Given the description of an element on the screen output the (x, y) to click on. 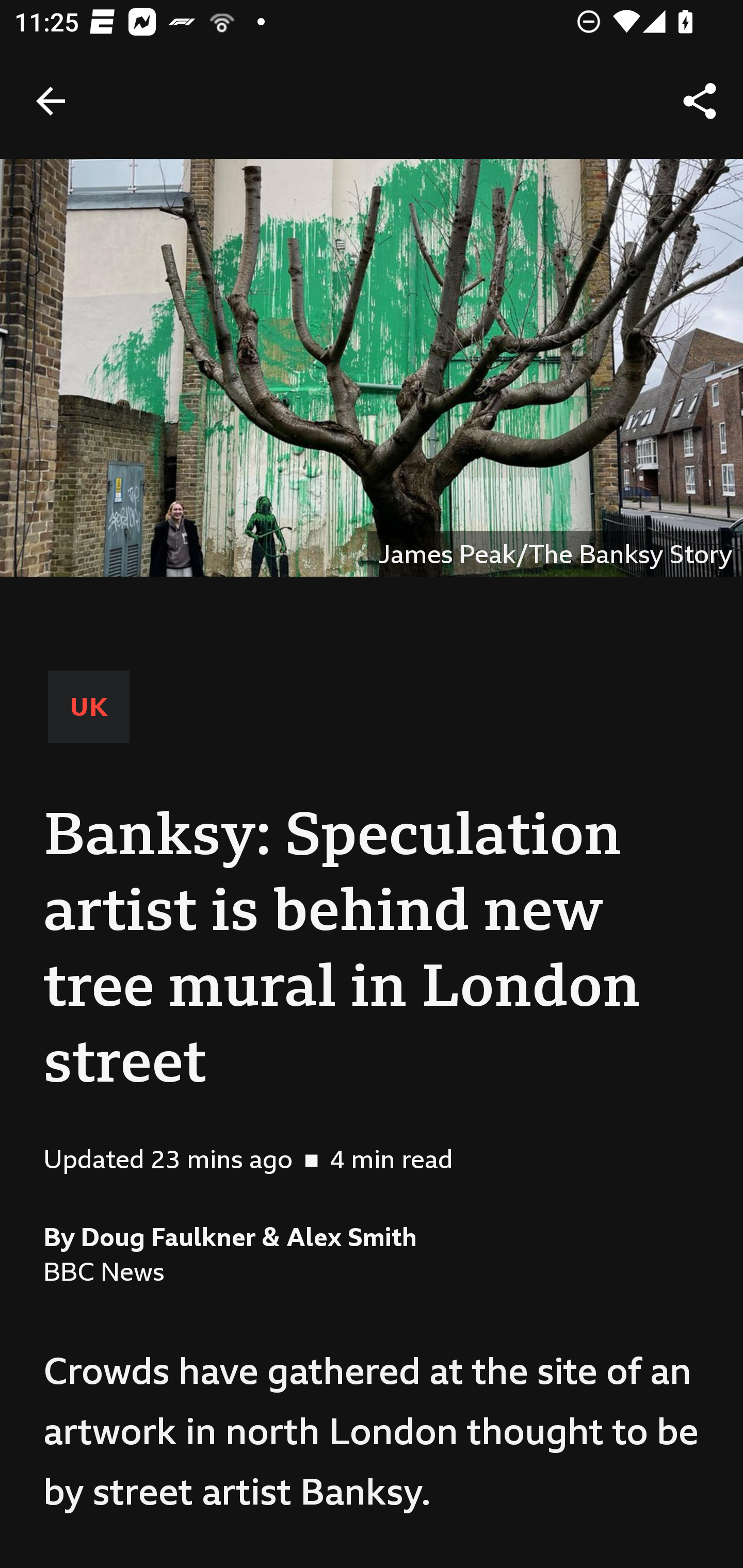
Back (50, 101)
Share (699, 101)
UK (88, 706)
